Given the description of an element on the screen output the (x, y) to click on. 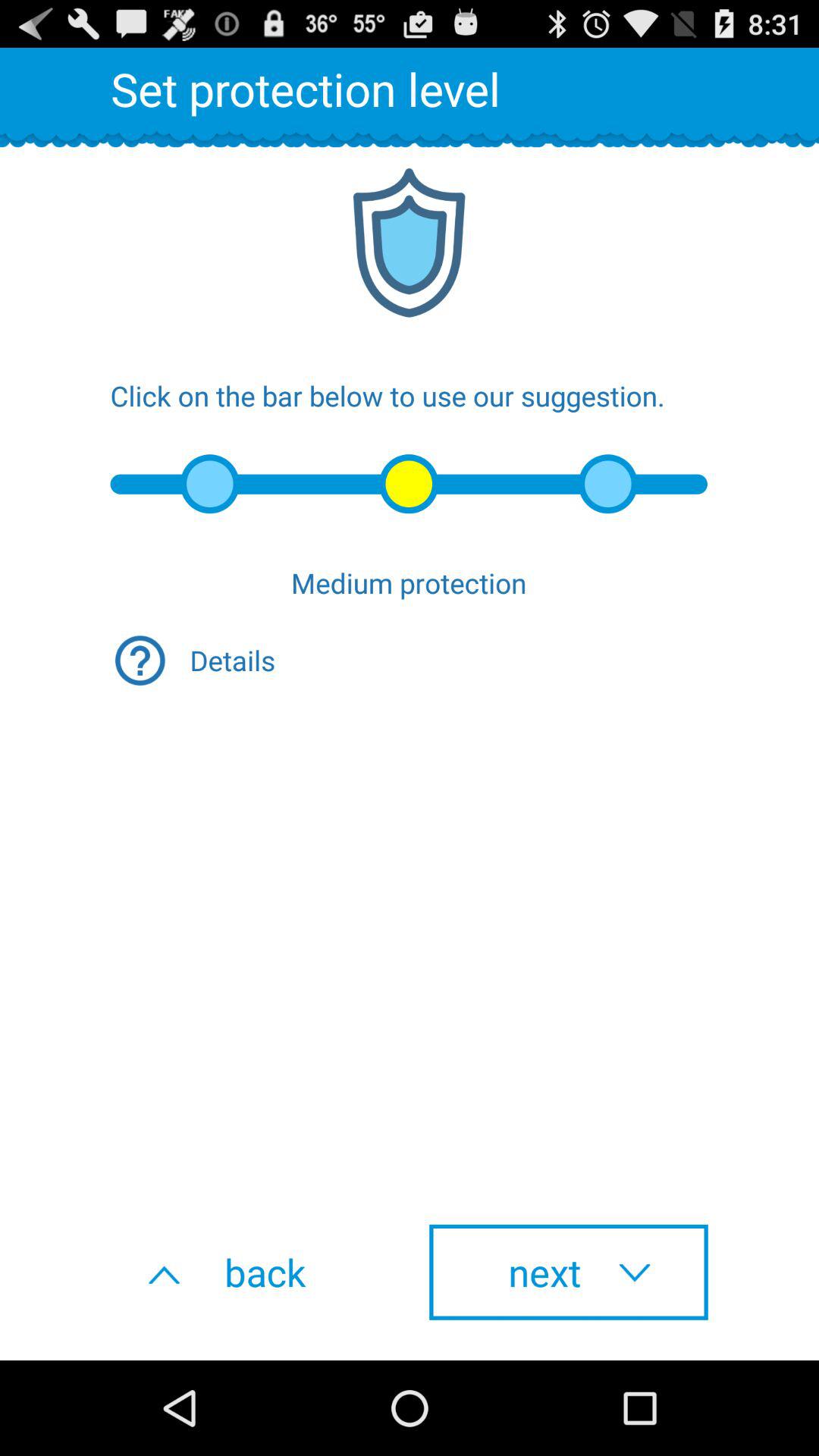
scroll until back item (249, 1272)
